Given the description of an element on the screen output the (x, y) to click on. 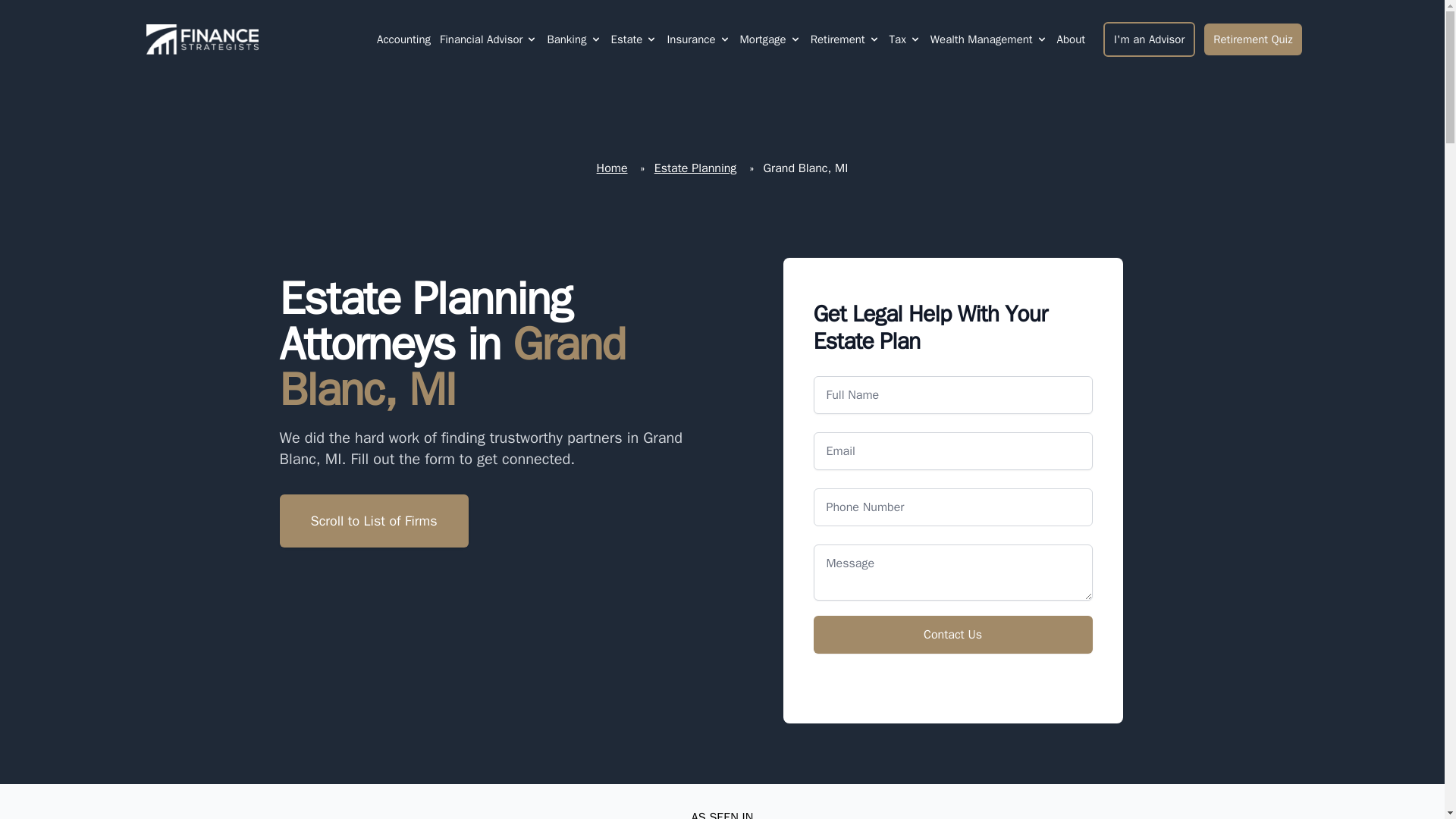
Accounting (403, 39)
Financial Advisor (480, 39)
Finance Strategists (199, 39)
Banking (573, 39)
Banking (566, 39)
Financial Advisor (488, 39)
Accounting (403, 39)
